Given the description of an element on the screen output the (x, y) to click on. 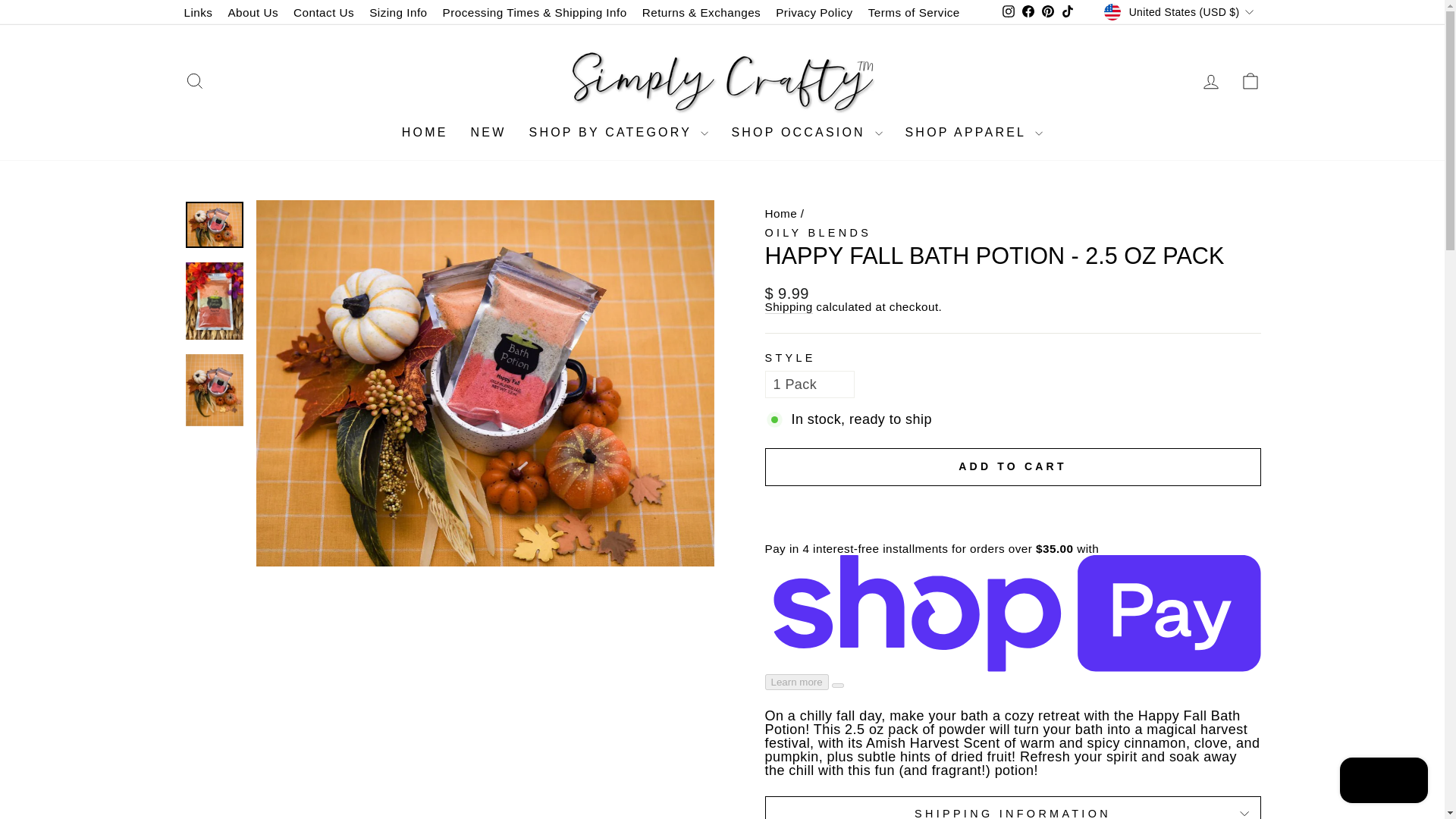
Back to the frontpage (780, 213)
ICON-BAG-MINIMAL (1249, 80)
Simply Crafty on Instagram (1007, 12)
ACCOUNT (1210, 81)
Simply Crafty on Facebook (1027, 12)
instagram (1008, 10)
Simply Crafty on Pinterest (1048, 12)
Simply Crafty on TikTok (1067, 12)
ICON-SEARCH (194, 80)
Oily Blends (817, 232)
